Given the description of an element on the screen output the (x, y) to click on. 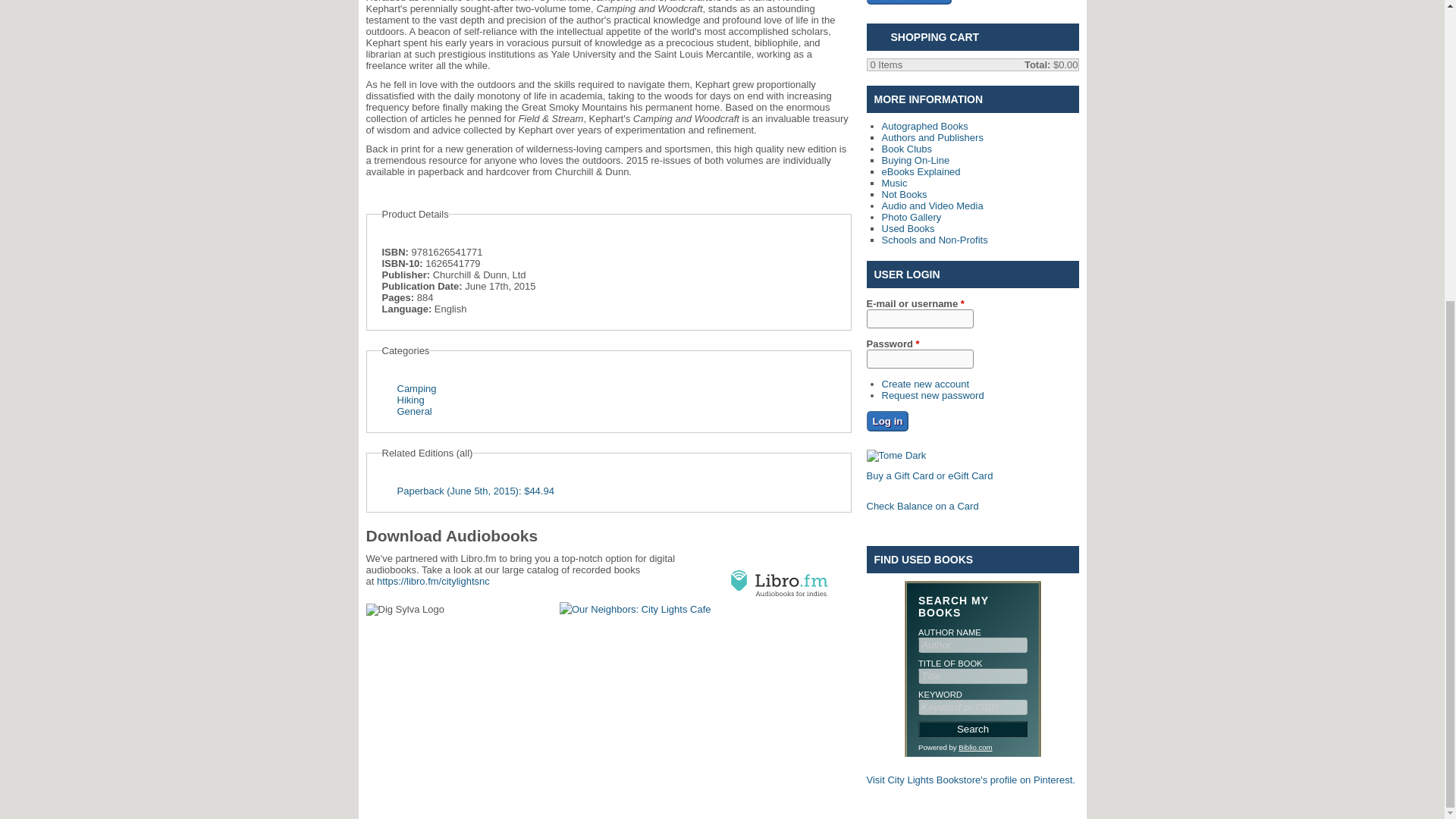
Buy a Gift Card (929, 475)
Search eBooks (908, 2)
Check Gift Card Balance (922, 505)
Camping (416, 388)
Request new password via e-mail. (932, 395)
Create a new user account. (924, 383)
Log in (887, 421)
Gift Card (896, 455)
Hiking (411, 399)
View your shopping cart. (879, 38)
